Given the description of an element on the screen output the (x, y) to click on. 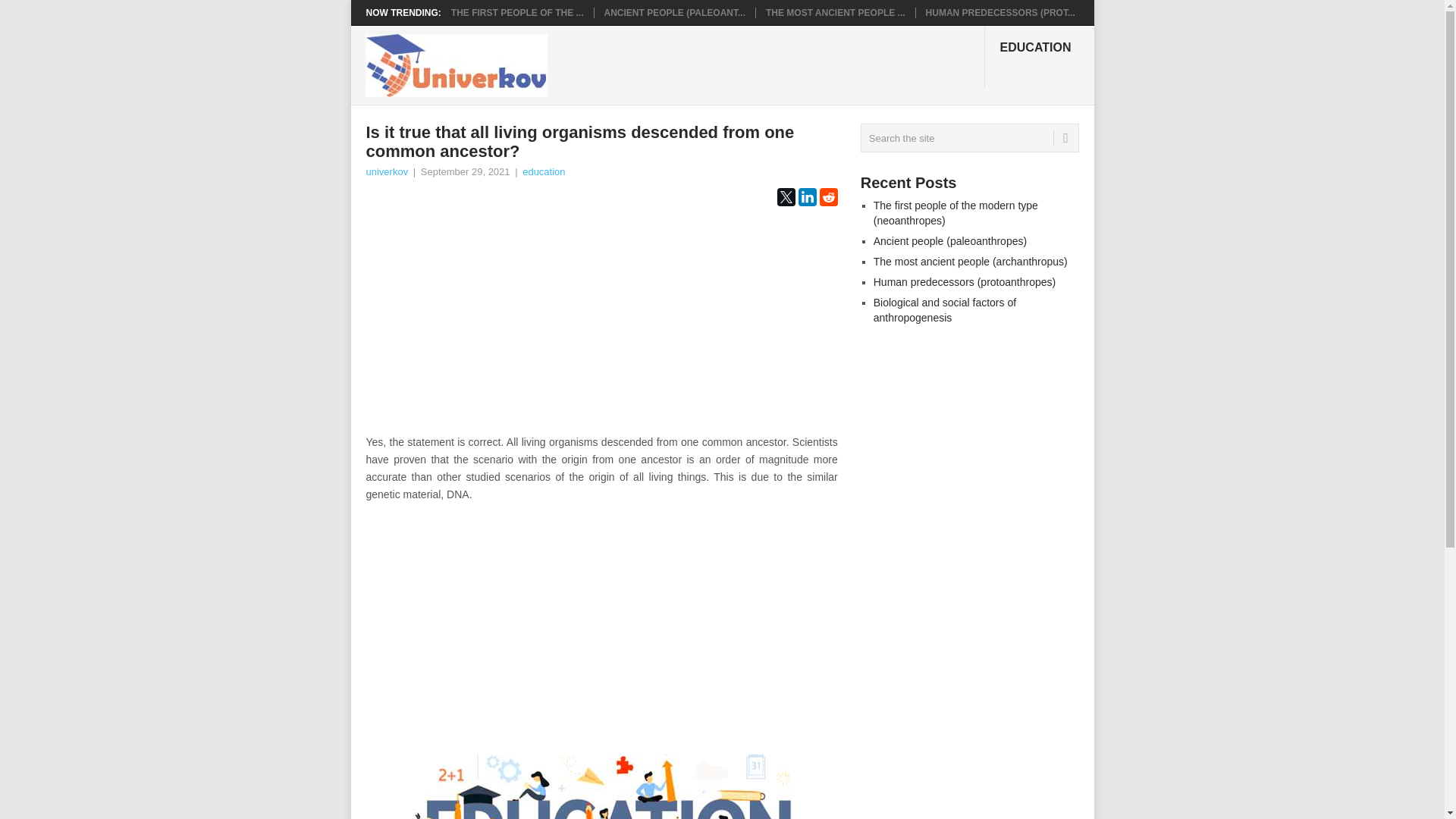
THE FIRST PEOPLE OF THE ... (517, 12)
univerkov (386, 171)
Advertisement (601, 327)
Posts by univerkov (386, 171)
Twitter (785, 197)
LinkedIn (806, 197)
reddit (828, 197)
Biological and social factors of anthropogenesis (944, 309)
THE MOST ANCIENT PEOPLE ... (835, 12)
education (543, 171)
Advertisement (601, 618)
Search the site (969, 137)
EDUCATION (1039, 56)
